Given the description of an element on the screen output the (x, y) to click on. 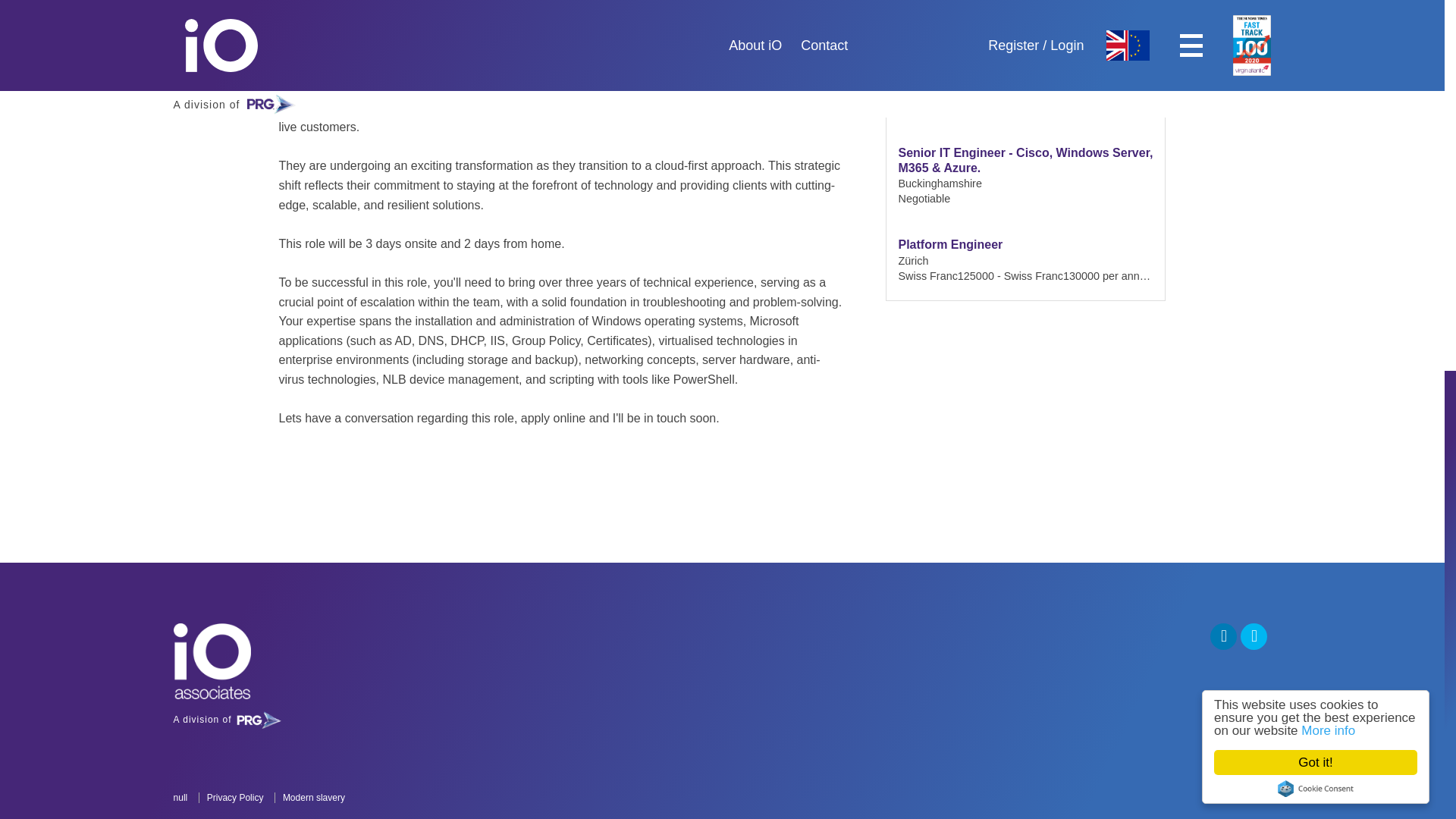
Privacy Policy (234, 797)
Modern slavery (313, 797)
Got it! (1329, 84)
Cookie Consent plugin for the EU cookie law (283, 719)
More info (1326, 111)
